Given the description of an element on the screen output the (x, y) to click on. 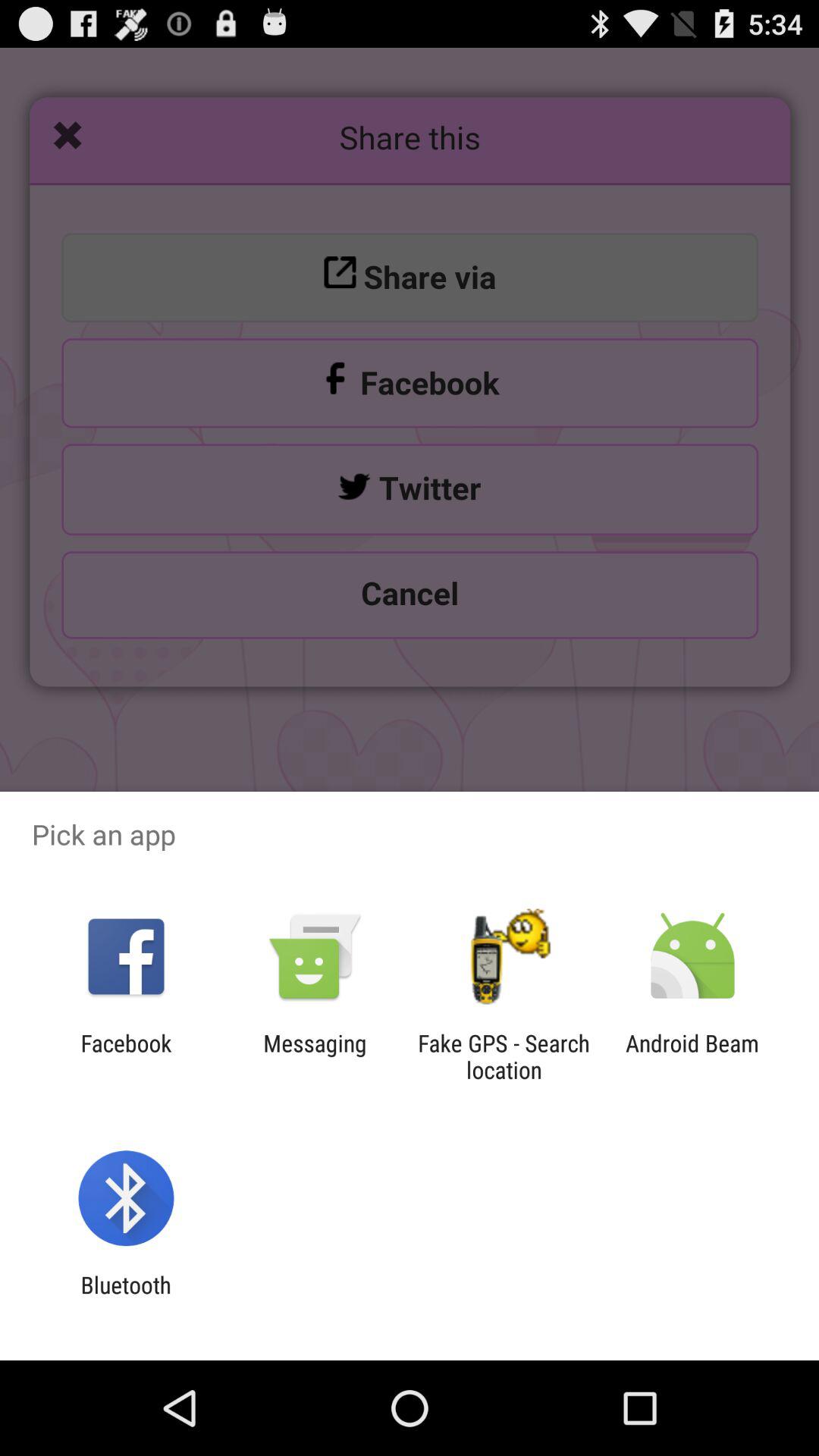
flip until the facebook item (125, 1056)
